Given the description of an element on the screen output the (x, y) to click on. 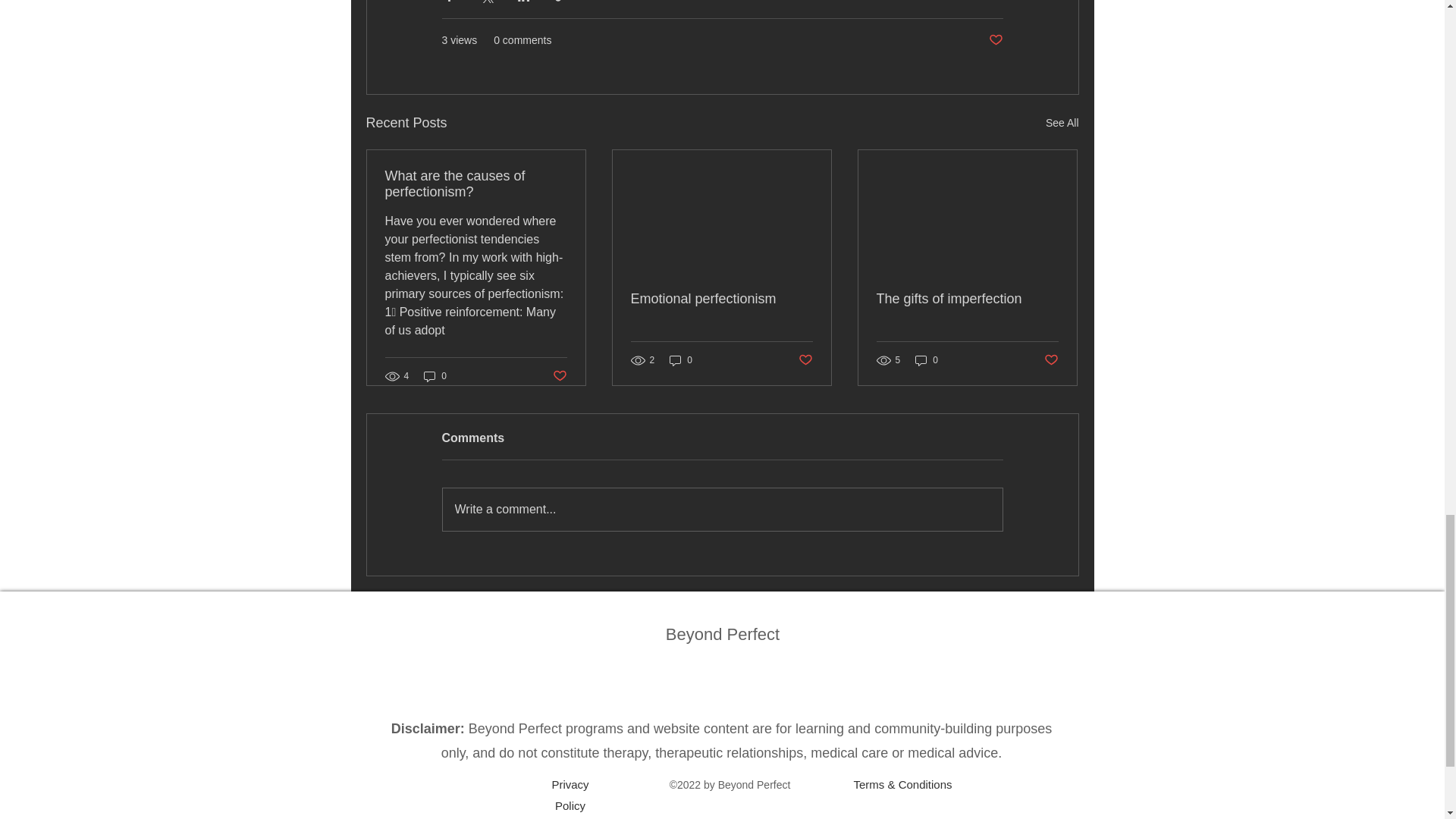
Post not marked as liked (804, 359)
The gifts of imperfection (967, 299)
Emotional perfectionism (721, 299)
0 (926, 359)
0 (435, 375)
Post not marked as liked (558, 376)
Privacy Policy (569, 795)
What are the causes of perfectionism? (476, 183)
Post not marked as liked (1050, 359)
Write a comment... (722, 509)
See All (1061, 123)
0 (681, 359)
Post not marked as liked (995, 40)
